Given the description of an element on the screen output the (x, y) to click on. 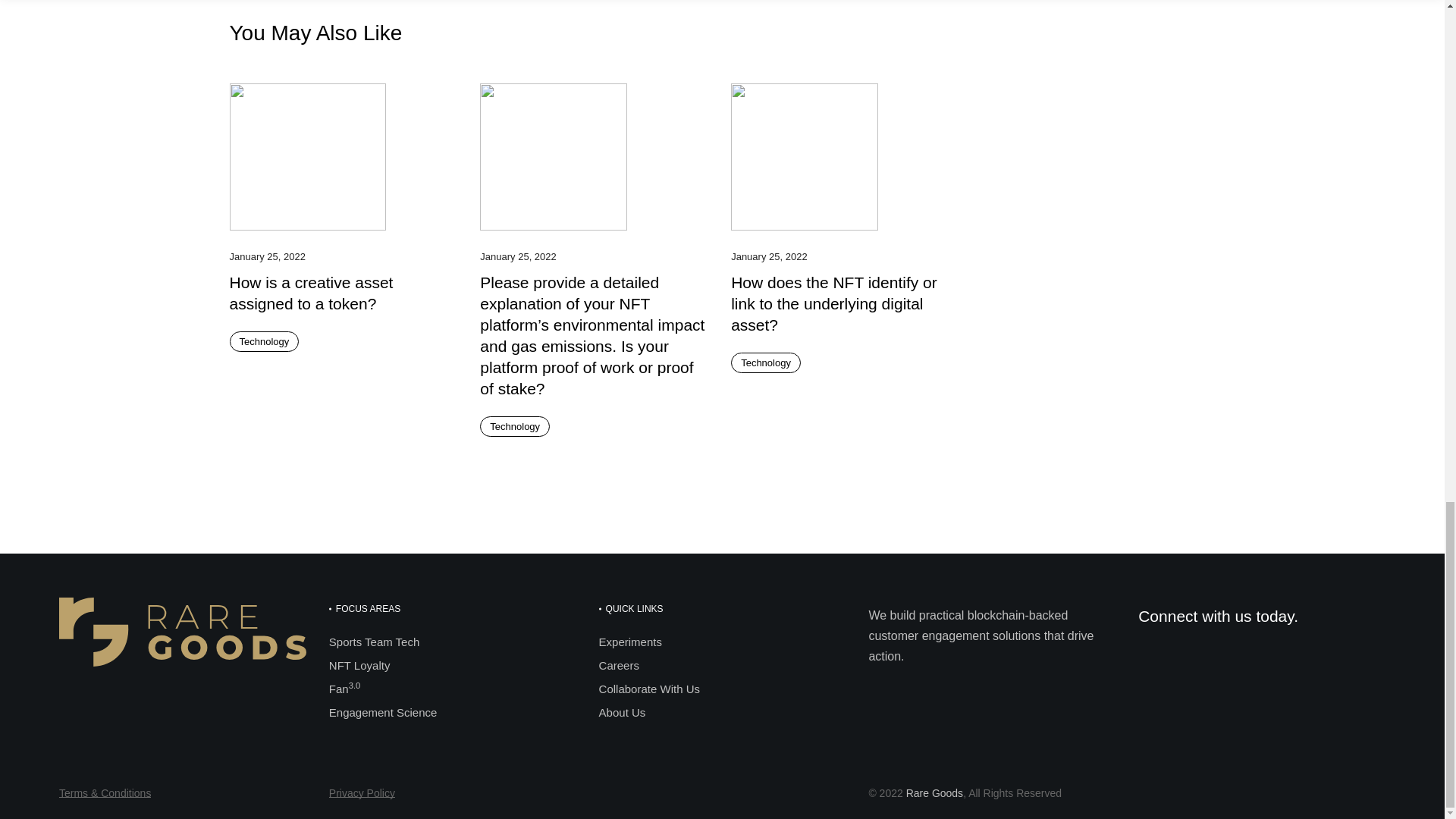
Technology (765, 362)
Technology (515, 426)
How is a creative asset assigned to a token? (310, 292)
Technology (263, 341)
January 25, 2022 (266, 256)
January 25, 2022 (518, 256)
January 25, 2022 (768, 256)
